Given the description of an element on the screen output the (x, y) to click on. 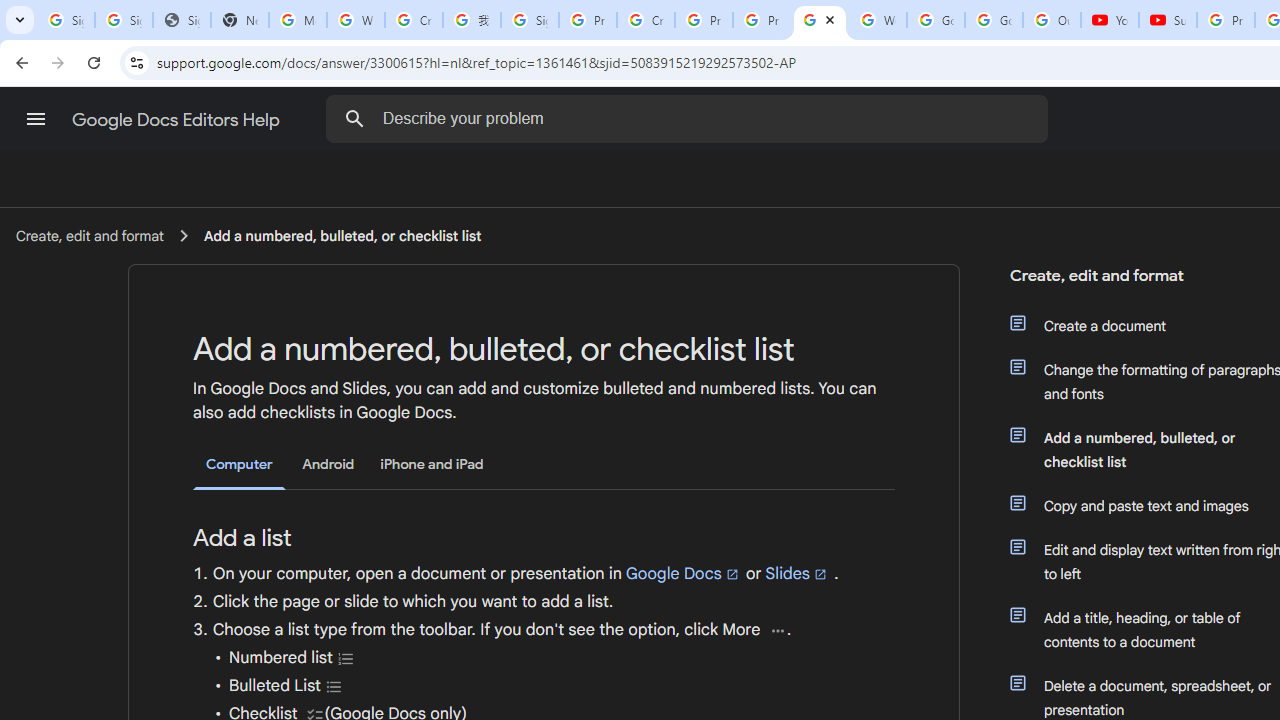
Numbered list (345, 658)
Create your Google Account (645, 20)
Computer (239, 465)
Describe your problem (689, 118)
Android (328, 464)
Add a numbered, bulleted, or checklist list (342, 235)
Bulleted List (334, 686)
